Given the description of an element on the screen output the (x, y) to click on. 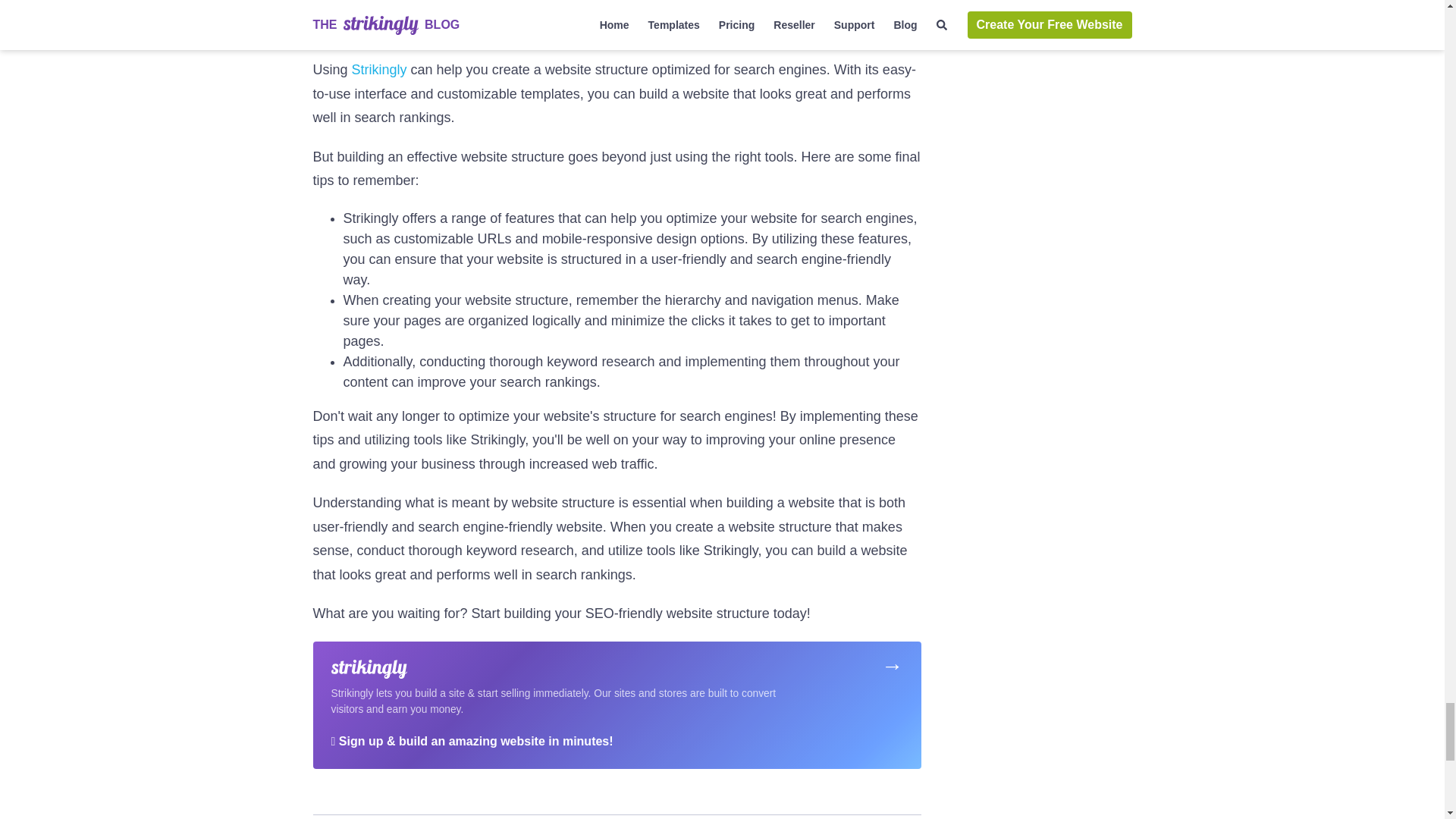
Strikingly Logo (368, 669)
Strikingly (379, 69)
